Given the description of an element on the screen output the (x, y) to click on. 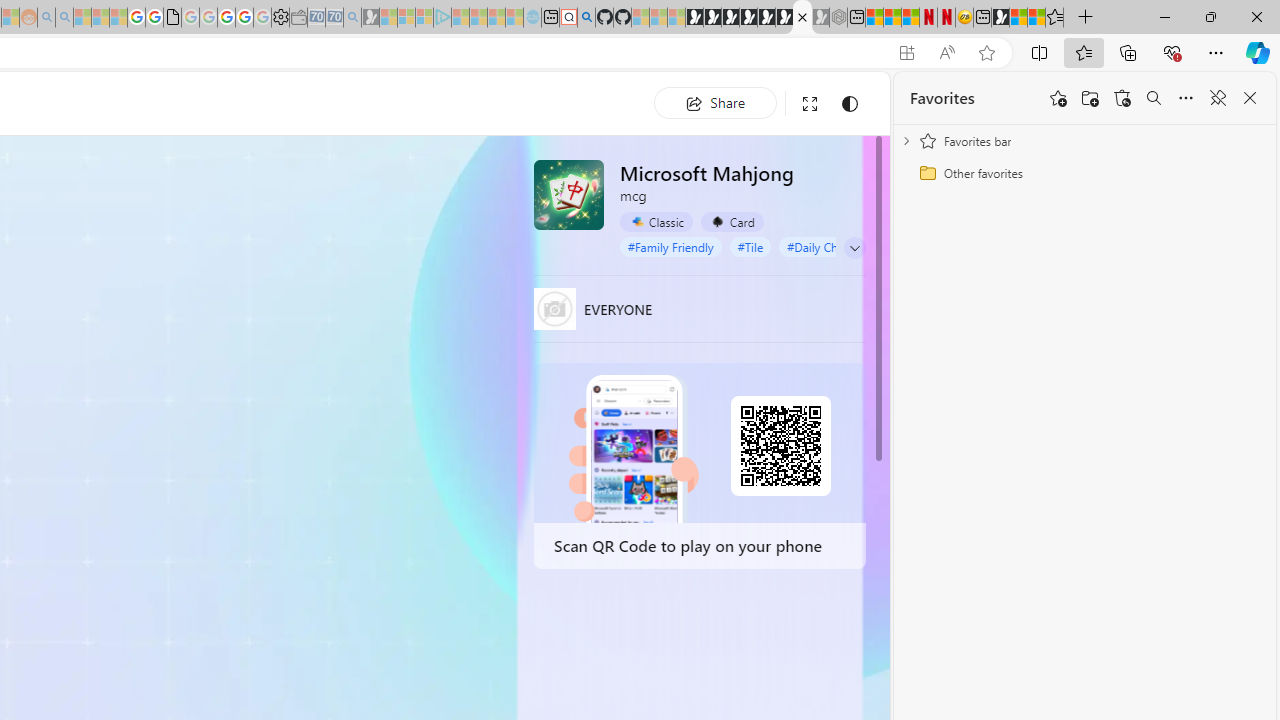
#Family Friendly (670, 246)
Classic (656, 221)
